Given the description of an element on the screen output the (x, y) to click on. 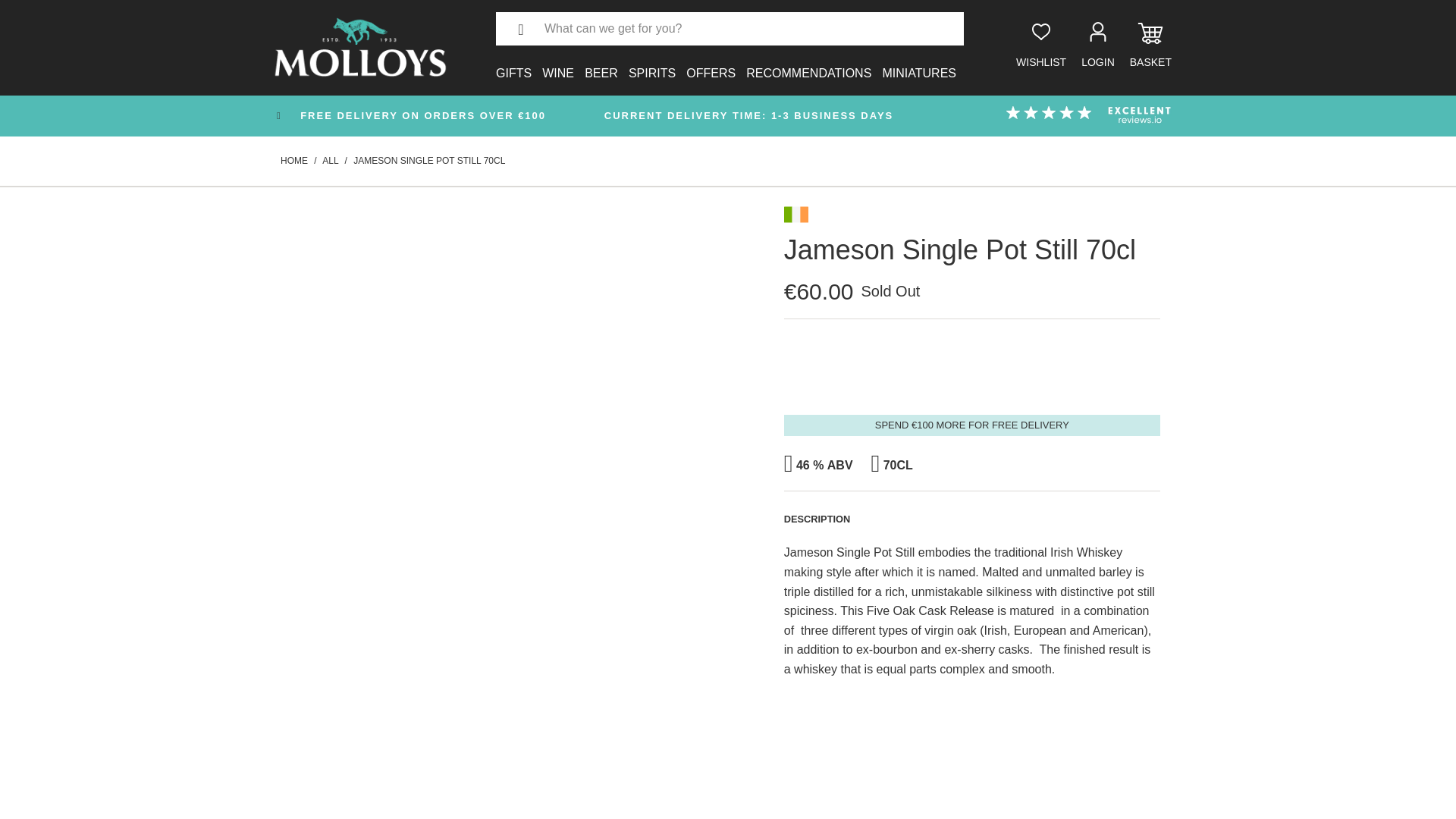
MINIATURES (918, 64)
OFFERS (710, 64)
All (329, 160)
RECOMMENDATIONS (807, 64)
GIFTS (513, 64)
Molloys Liquor Stores (294, 160)
SPIRITS (651, 64)
